Given the description of an element on the screen output the (x, y) to click on. 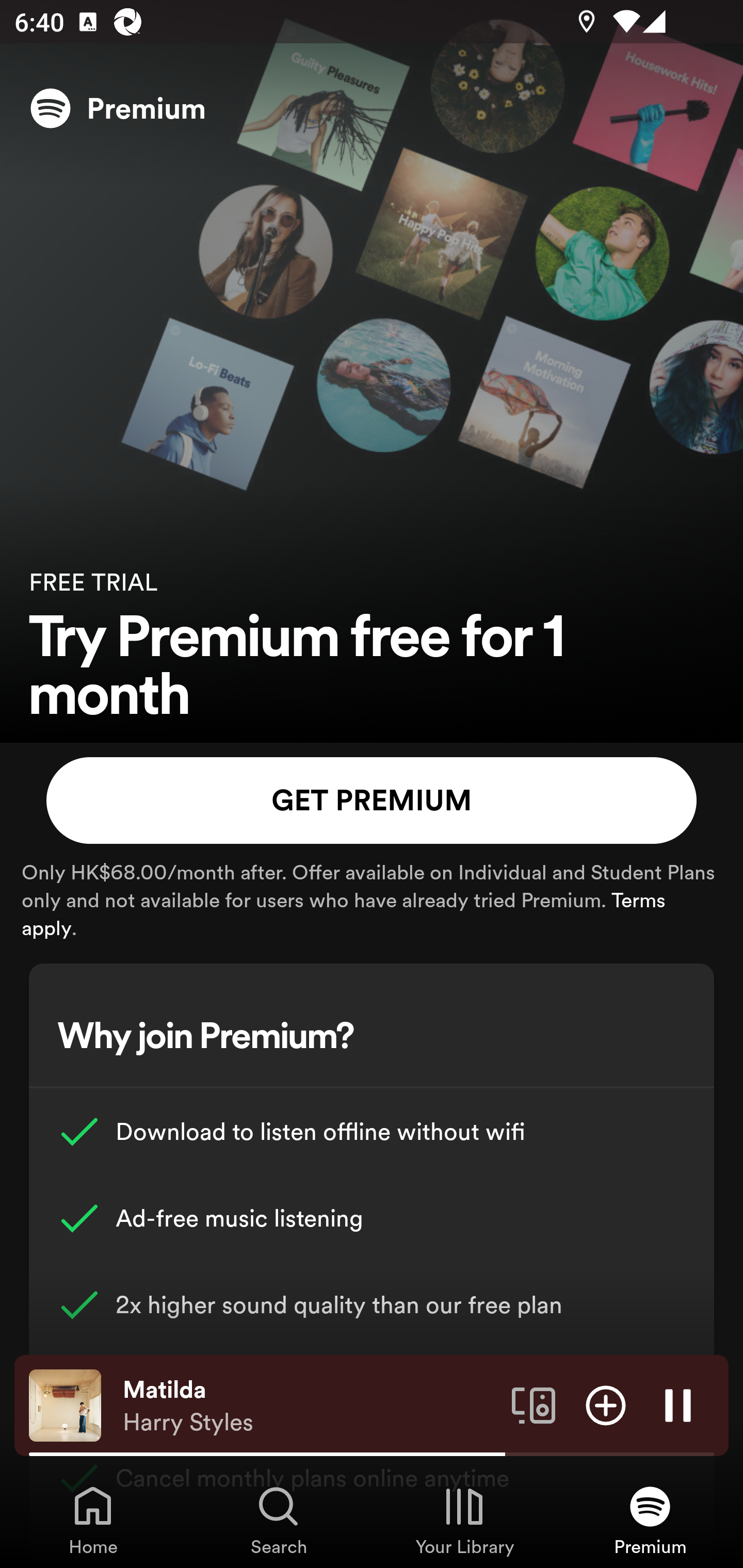
GET PREMIUM (371, 800)
Matilda Harry Styles (309, 1405)
The cover art of the currently playing track (64, 1404)
Connect to a device. Opens the devices menu (533, 1404)
Add item (605, 1404)
Pause (677, 1404)
Home, Tab 1 of 4 Home Home (92, 1519)
Search, Tab 2 of 4 Search Search (278, 1519)
Your Library, Tab 3 of 4 Your Library Your Library (464, 1519)
Premium, Tab 4 of 4 Premium Premium (650, 1519)
